Given the description of an element on the screen output the (x, y) to click on. 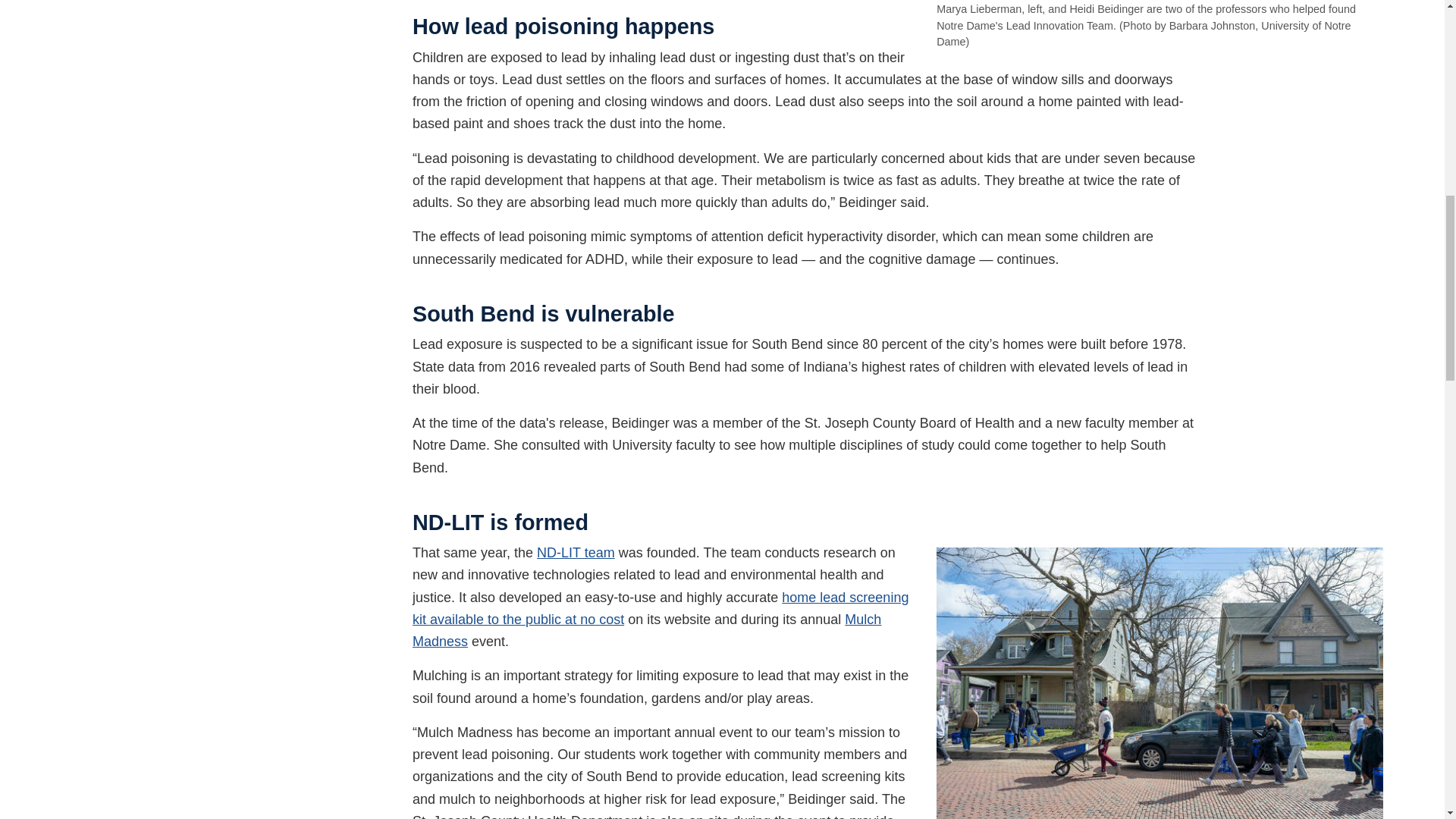
ND-LIT team (575, 552)
Mulch Madness (646, 630)
home lead screening kit available to the public at no cost (660, 608)
